Given the description of an element on the screen output the (x, y) to click on. 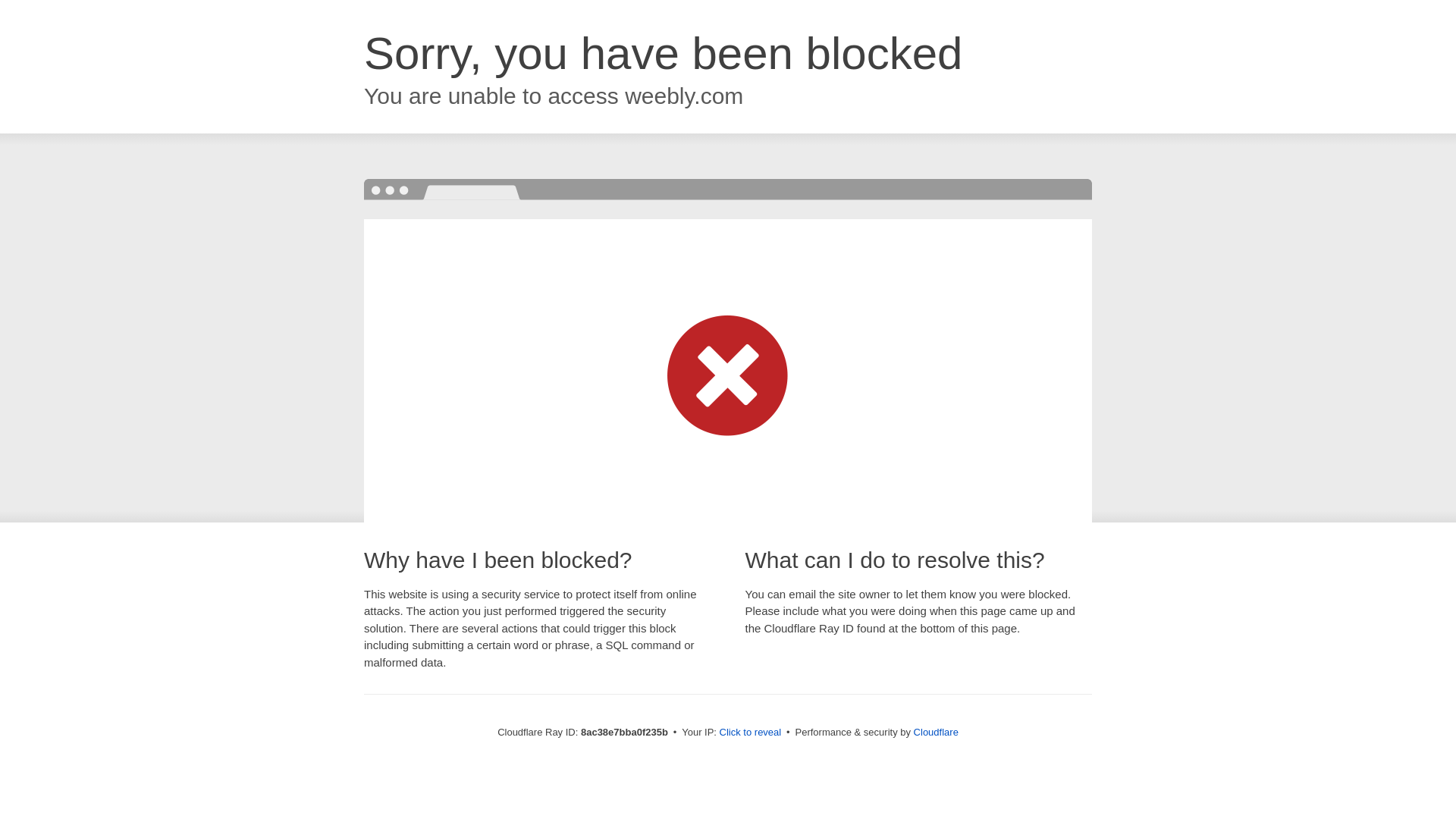
Cloudflare (936, 731)
Click to reveal (750, 732)
